Given the description of an element on the screen output the (x, y) to click on. 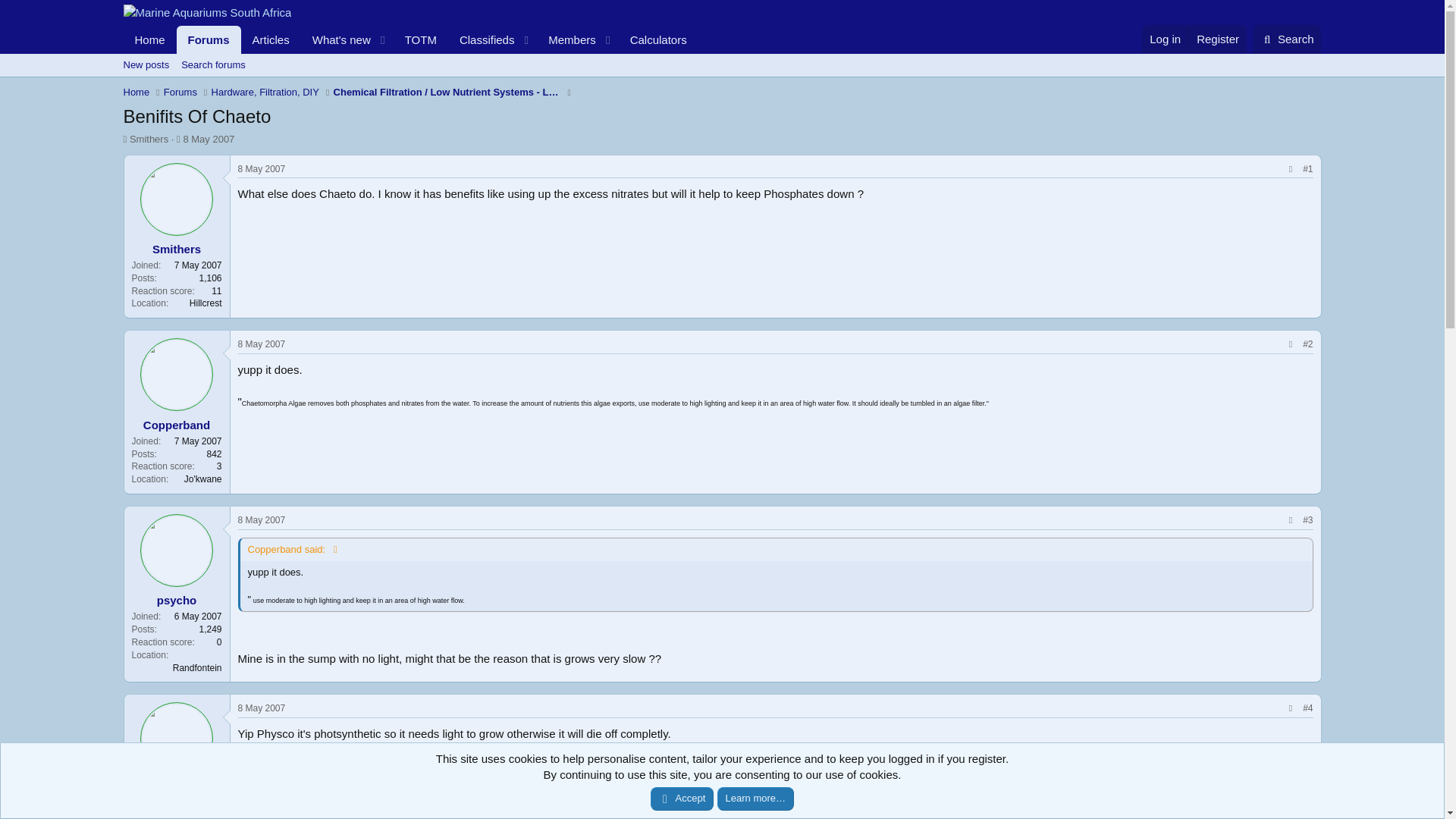
8 May 2007 at 07:12 (208, 138)
Classifieds (481, 39)
8 May 2007 at 09:30 (261, 520)
Forums (208, 39)
Home (135, 92)
Search (1287, 39)
8 May 2007 at 07:17 (721, 65)
8 May 2007 at 09:33 (261, 344)
Home (261, 707)
Thread starter (149, 39)
TOTM (124, 139)
Articles (420, 39)
Search (271, 39)
Search forums (1287, 39)
